Given the description of an element on the screen output the (x, y) to click on. 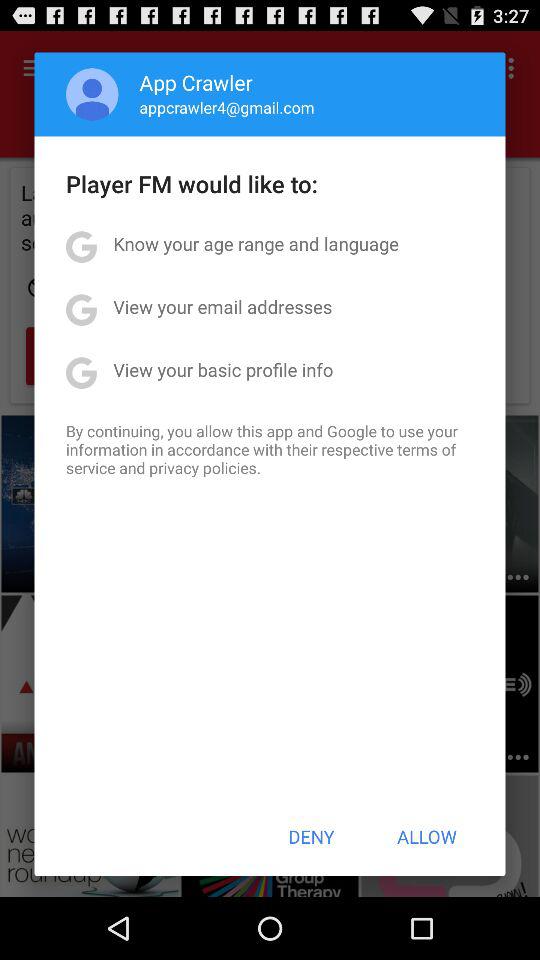
tap the app below the app crawler (226, 107)
